Given the description of an element on the screen output the (x, y) to click on. 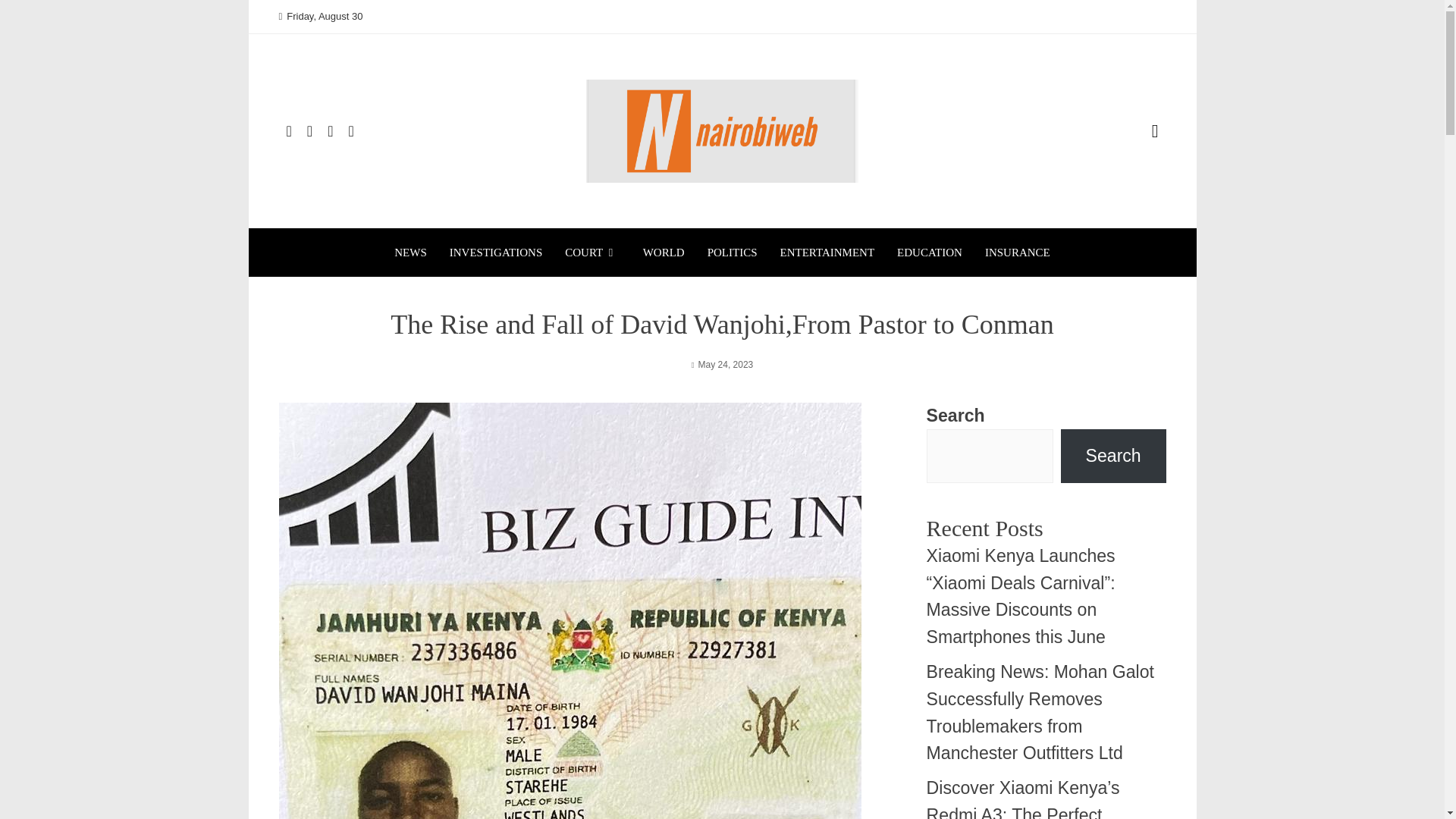
INSURANCE (1017, 252)
NEWS (410, 252)
ENTERTAINMENT (827, 252)
WORLD (663, 252)
Search (1113, 456)
COURT (592, 252)
EDUCATION (929, 252)
INVESTIGATIONS (496, 252)
POLITICS (732, 252)
